Given the description of an element on the screen output the (x, y) to click on. 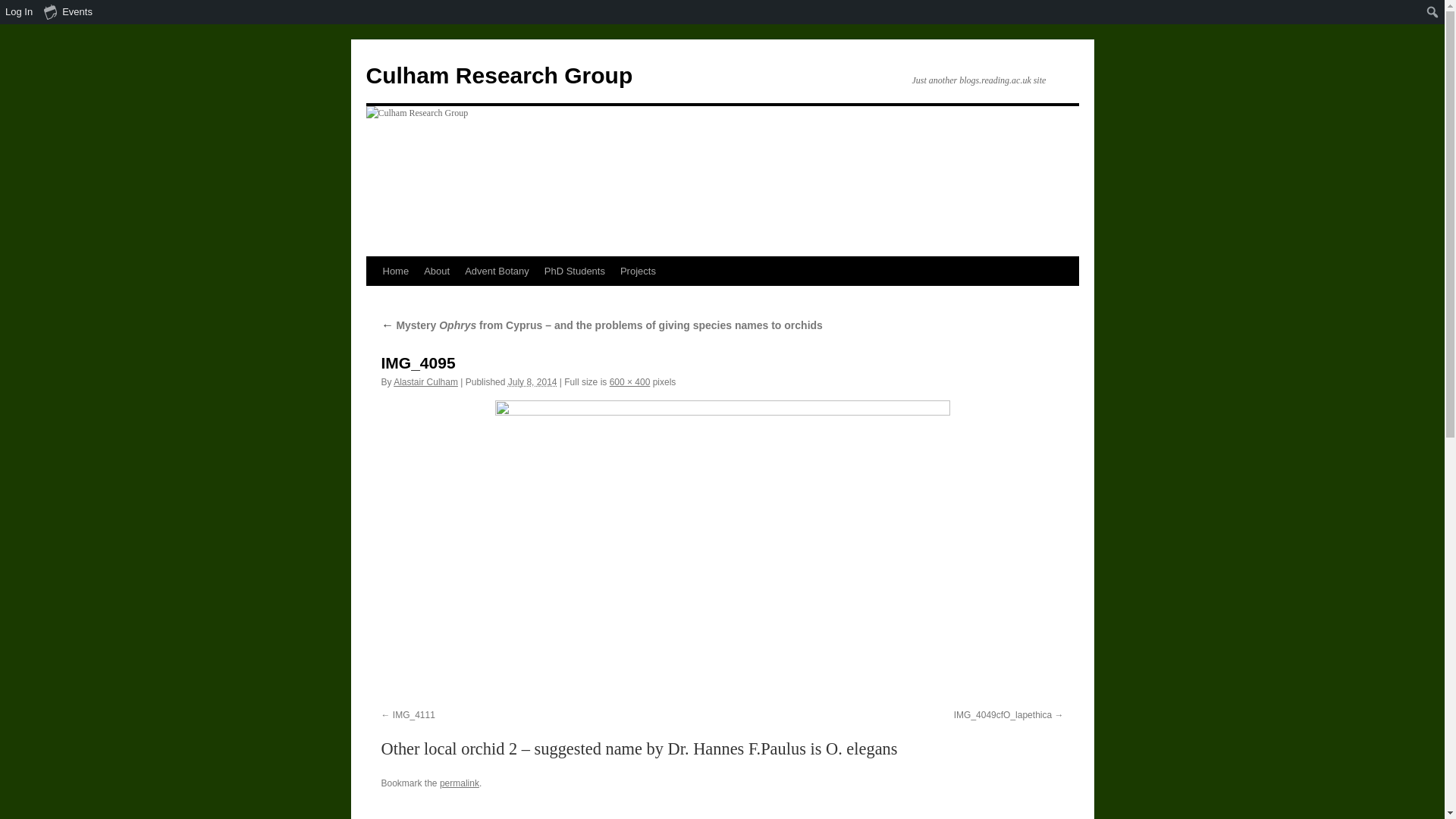
Alastair Culham (425, 381)
Culham Research Group (498, 75)
Link to full-size image (630, 381)
4:23 pm (532, 381)
View all posts by Alastair Culham (425, 381)
Home (395, 271)
Log In (19, 12)
About (436, 271)
Search (16, 13)
PhD Students (574, 271)
Projects (637, 271)
Events (69, 12)
Advent Botany (497, 271)
permalink (459, 783)
